Given the description of an element on the screen output the (x, y) to click on. 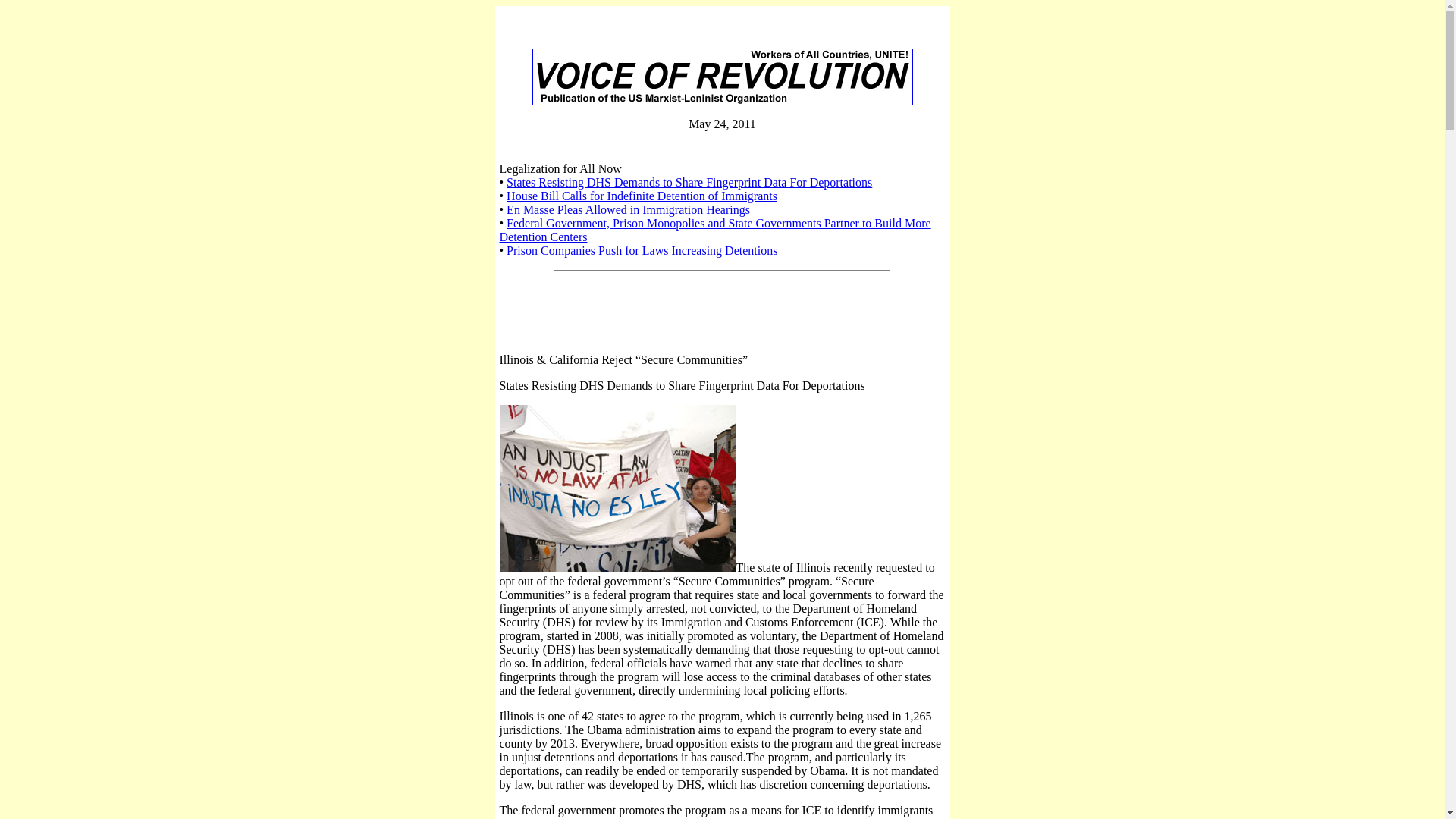
House Bill Calls for Indefinite Detention of Immigrants (641, 195)
En Masse Pleas Allowed in Immigration Hearings (627, 209)
Prison Companies Push for Laws Increasing Detentions (641, 250)
